Given the description of an element on the screen output the (x, y) to click on. 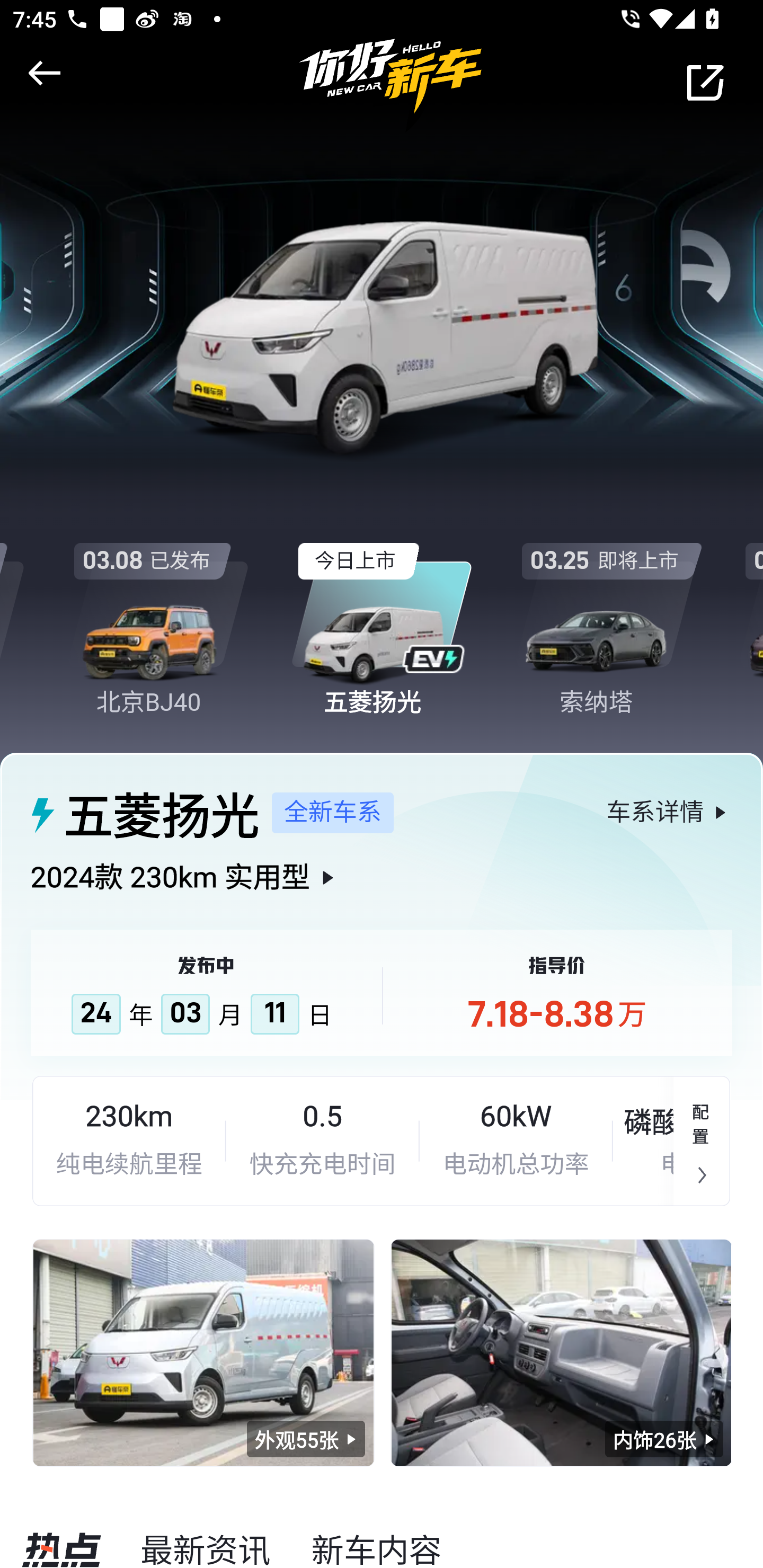
 (41, 72)
03.08 已发布 北京BJ40 (156, 614)
今日上市 五菱扬光 (381, 614)
03.25 即将上市 索纳塔 (605, 614)
车系详情 (668, 812)
2024款 230km 实用型 (381, 891)
配置 (701, 1141)
外观 55 张 (203, 1352)
内饰 26 张 (560, 1352)
外观 55 张 (305, 1439)
内饰 26 张 (664, 1439)
最新资讯 (205, 1546)
新车内容 (376, 1546)
